Given the description of an element on the screen output the (x, y) to click on. 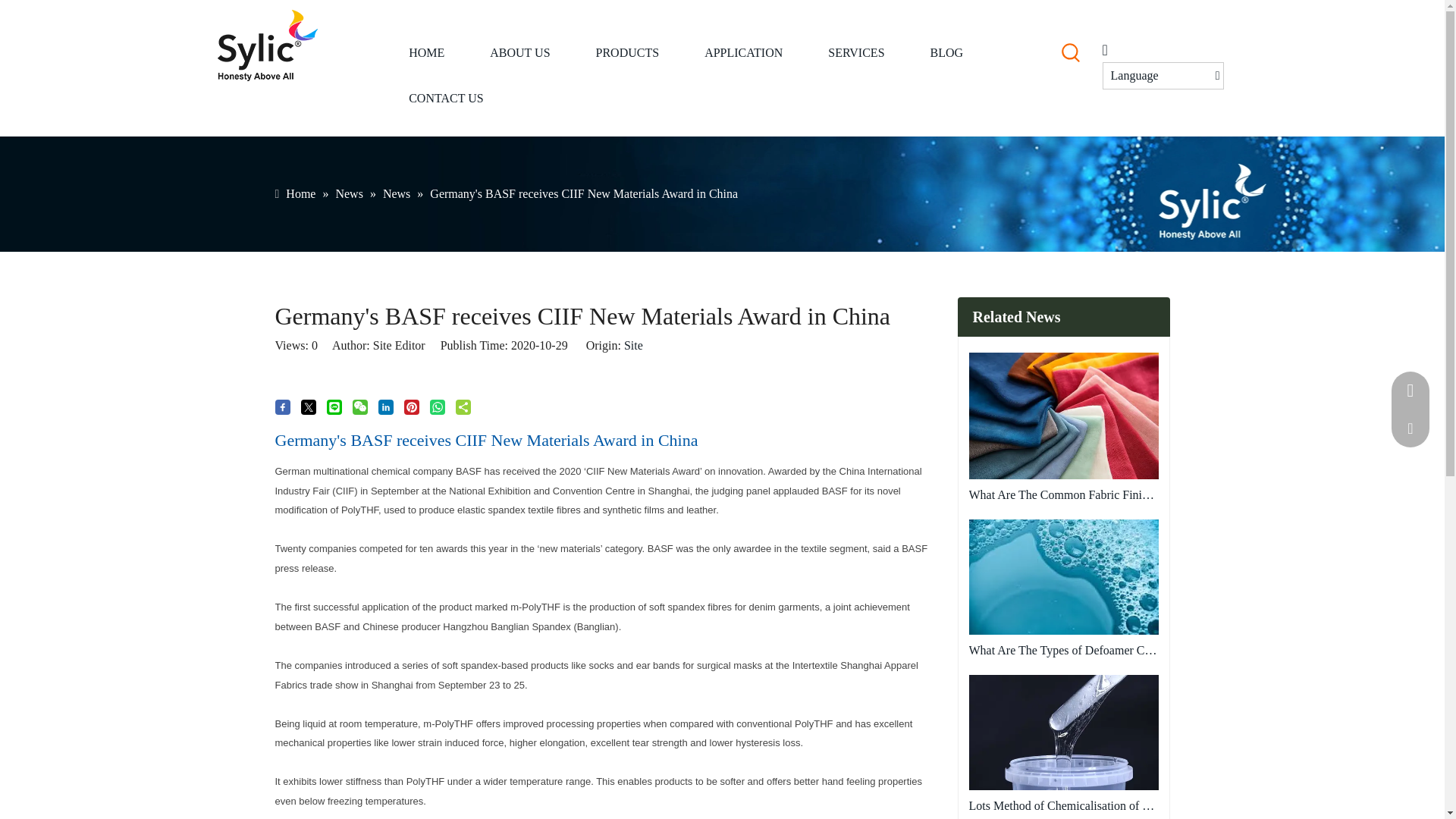
ABOUT US (519, 53)
HOME (426, 53)
What Are The Types of Defoamer Commonly Used? (1063, 576)
logo (267, 45)
BLOG (947, 53)
Lots Method of Chemicalisation of Dyestuffs (1063, 732)
What Are The Types of Defoamer Commonly Used? (1063, 650)
Lots Method of Chemicalisation of Dyestuffs (1063, 805)
SERVICES (856, 53)
CONTACT US (445, 98)
